Given the description of an element on the screen output the (x, y) to click on. 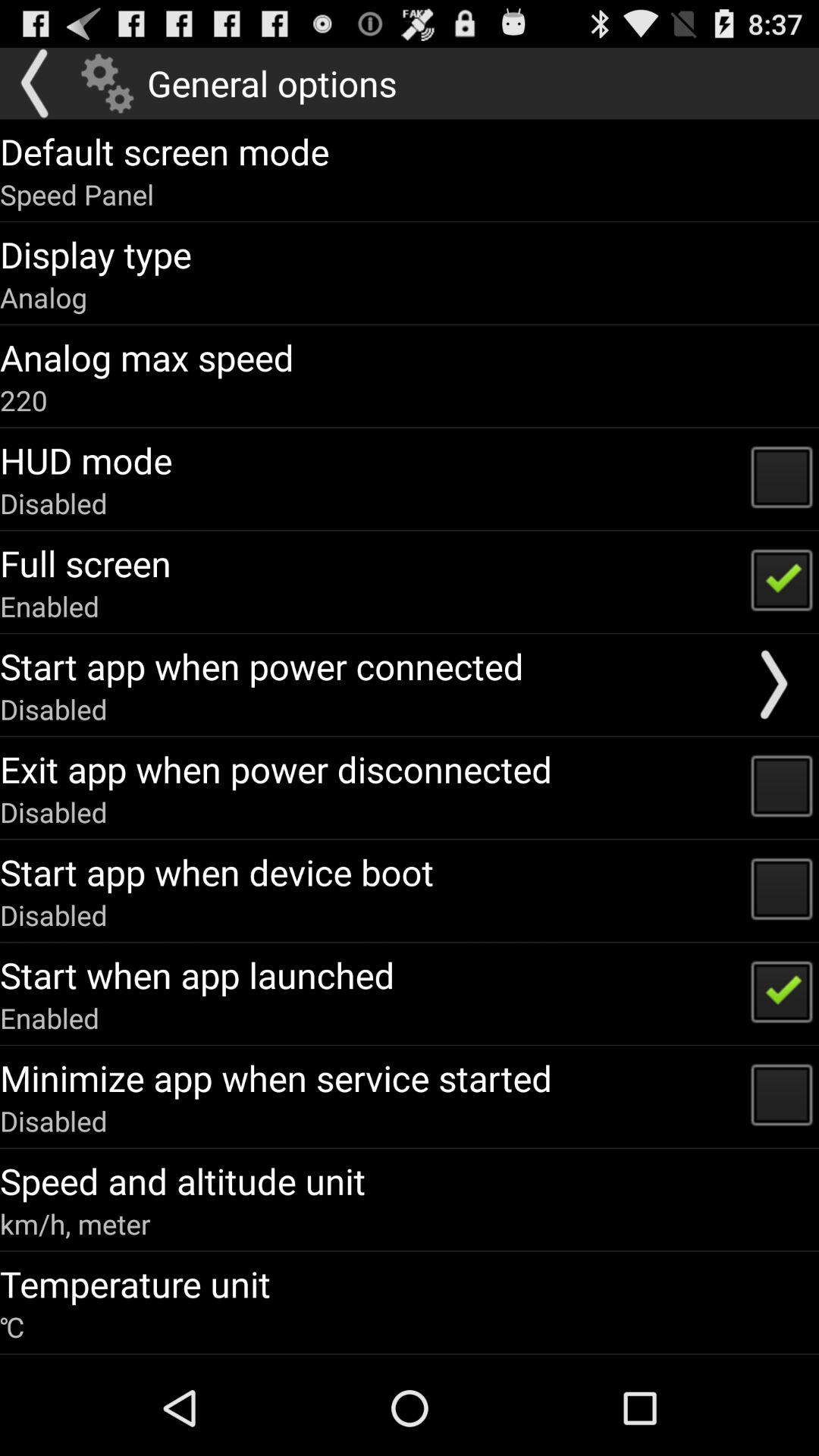
press hud mode item (86, 460)
